Given the description of an element on the screen output the (x, y) to click on. 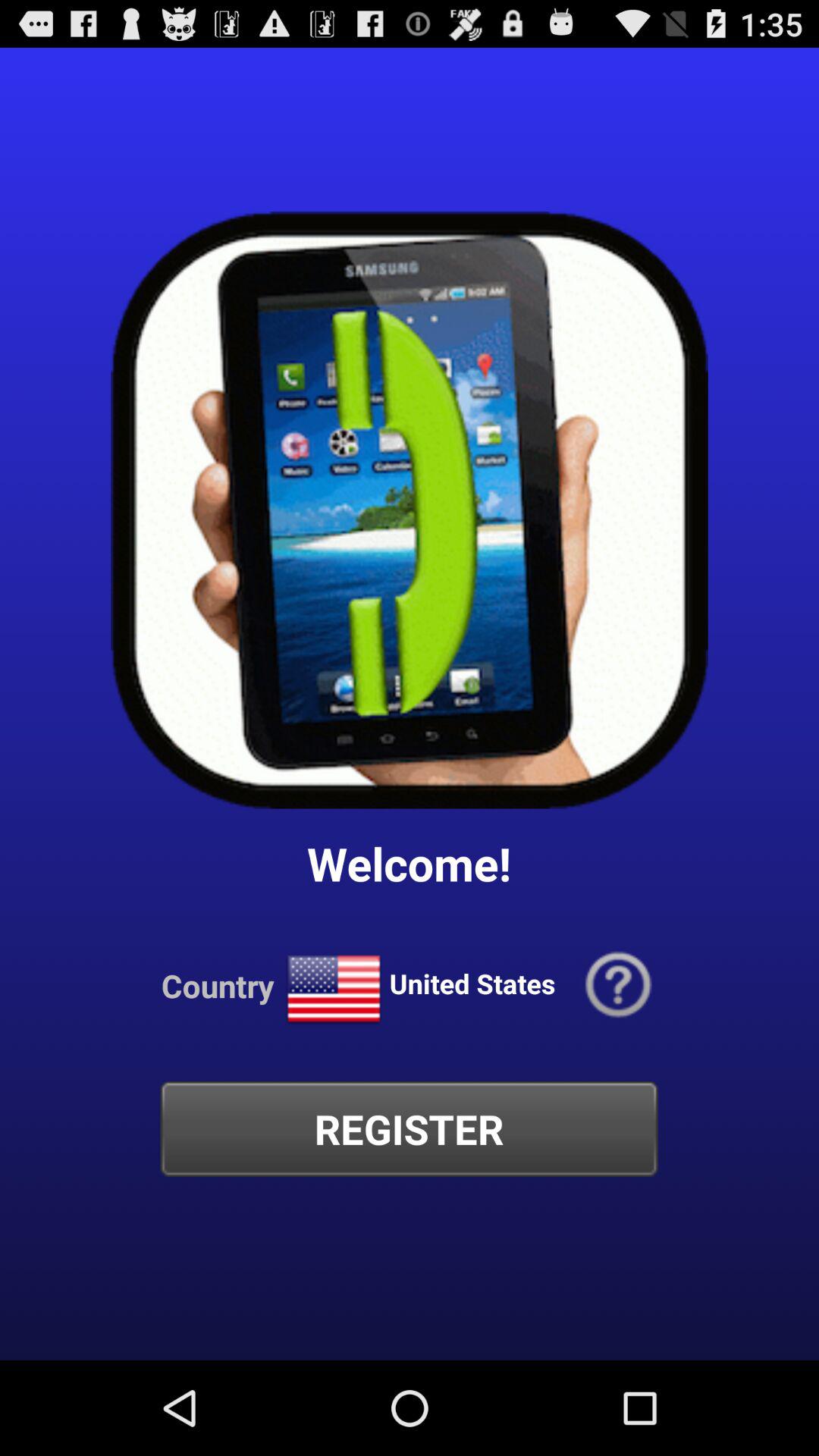
tap icon next to united states app (618, 985)
